Given the description of an element on the screen output the (x, y) to click on. 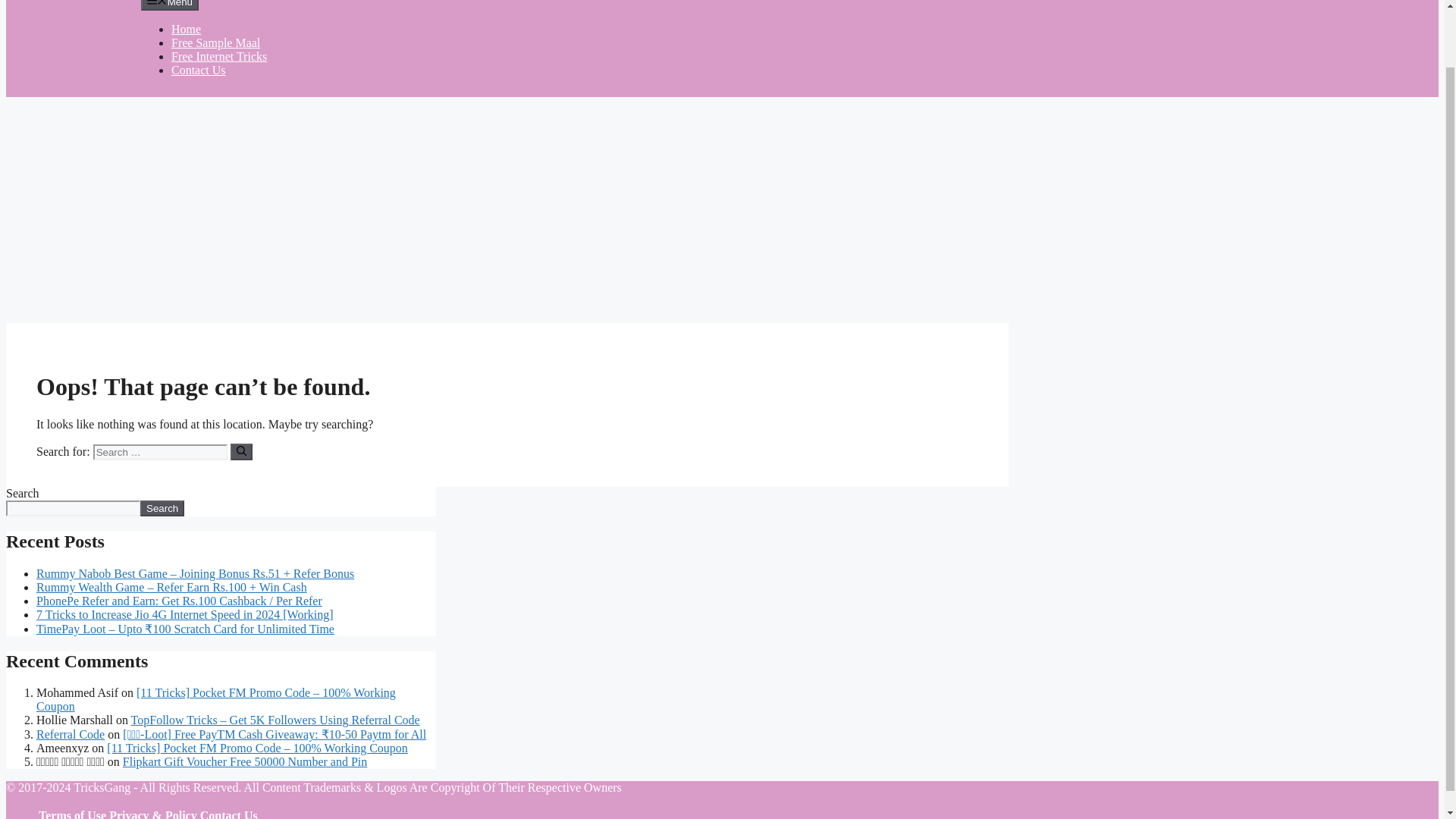
Search (161, 508)
Flipkart Gift Voucher Free 50000 Number and Pin (244, 761)
Free Internet Tricks (218, 56)
Home (185, 29)
Free Sample Maal (215, 42)
Contact Us (198, 69)
Referral Code (70, 734)
Search for: (160, 452)
Menu (169, 4)
